Given the description of an element on the screen output the (x, y) to click on. 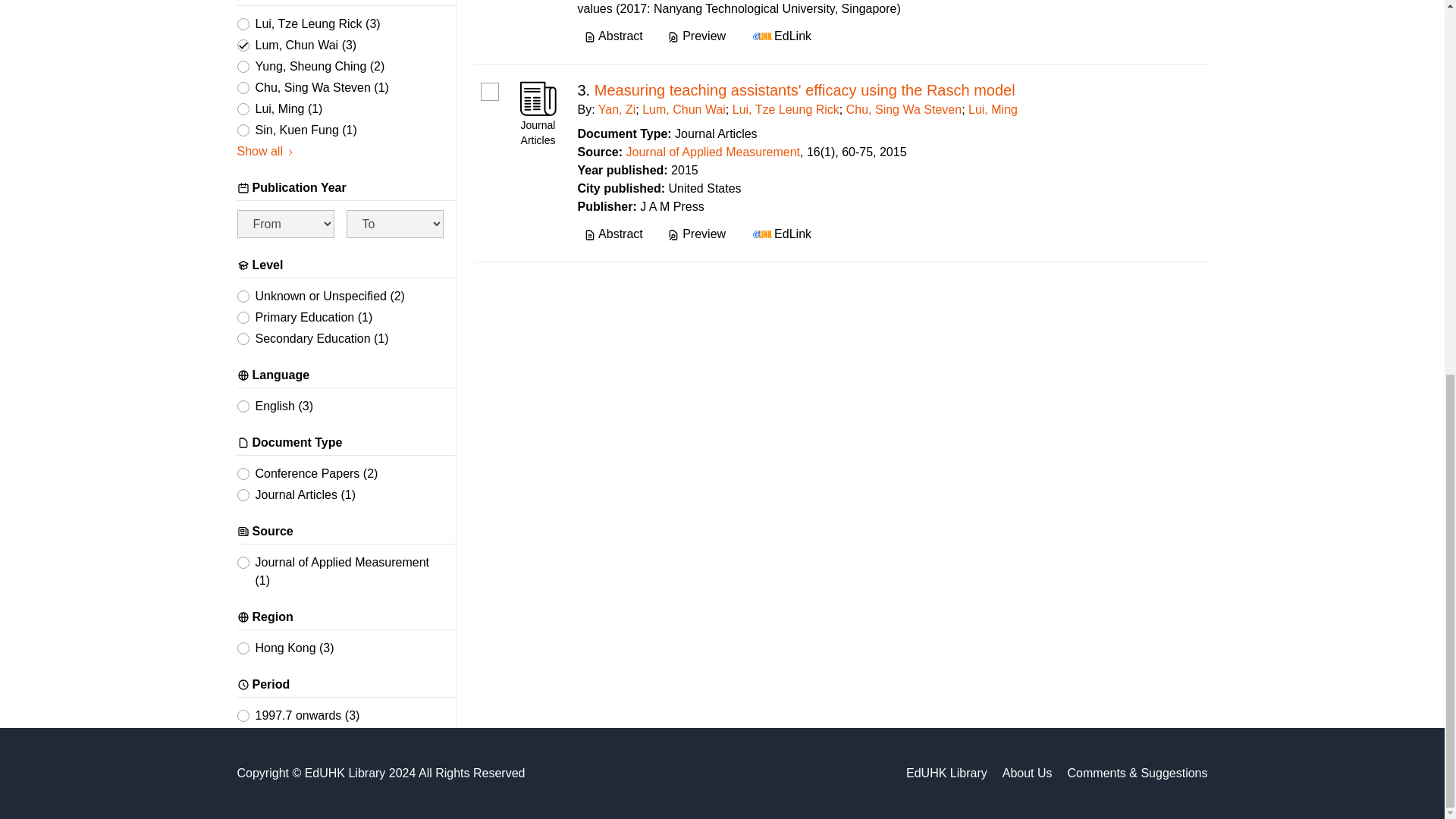
Show all (265, 151)
